Given the description of an element on the screen output the (x, y) to click on. 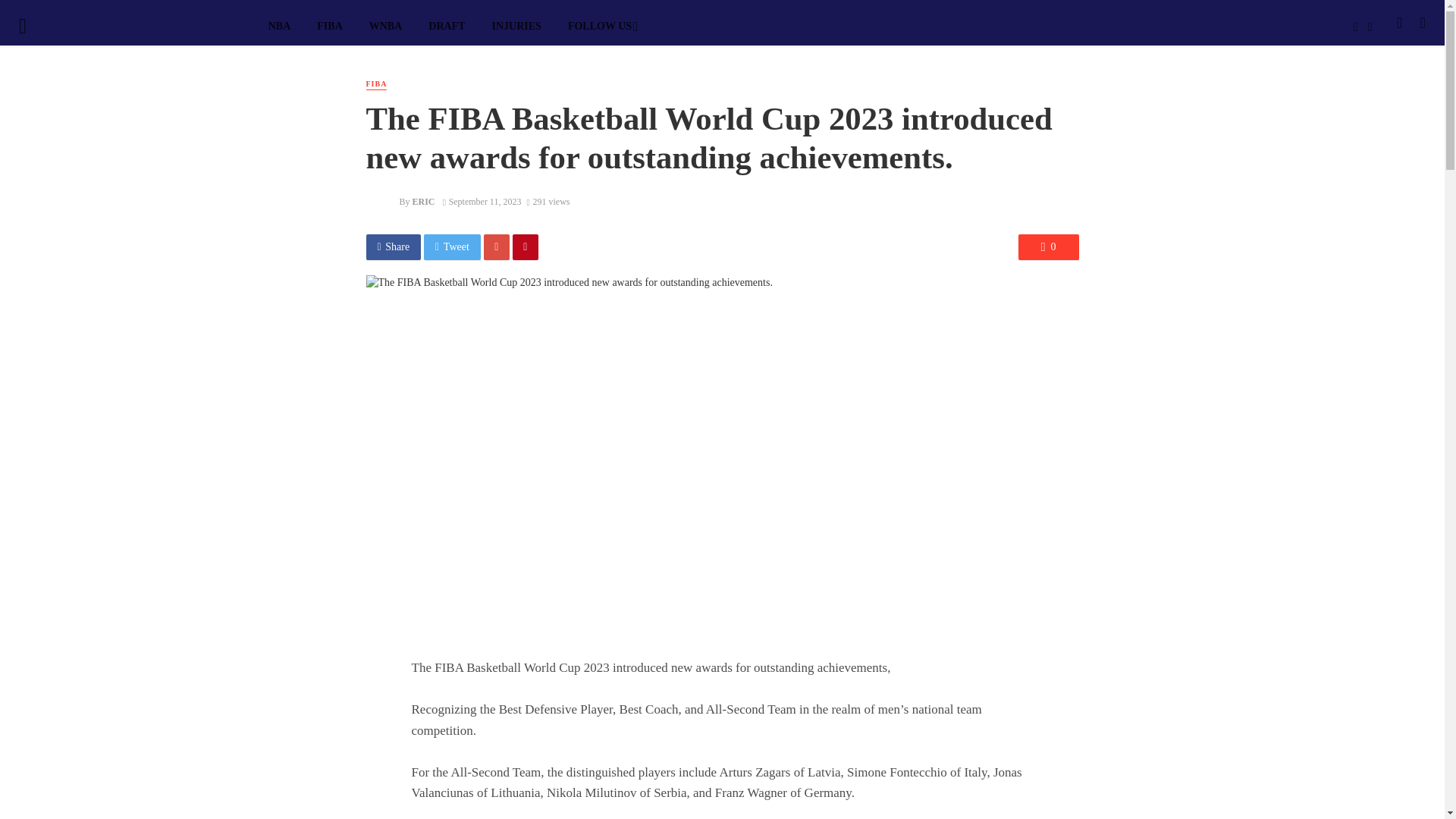
0 (1047, 247)
INJURIES (516, 26)
FIBA (376, 84)
WNBA (384, 26)
Share on Facebook (392, 247)
Share (392, 247)
0 Comments (1047, 247)
Share on Twitter (451, 247)
ERIC (422, 201)
NBA (279, 26)
